Given the description of an element on the screen output the (x, y) to click on. 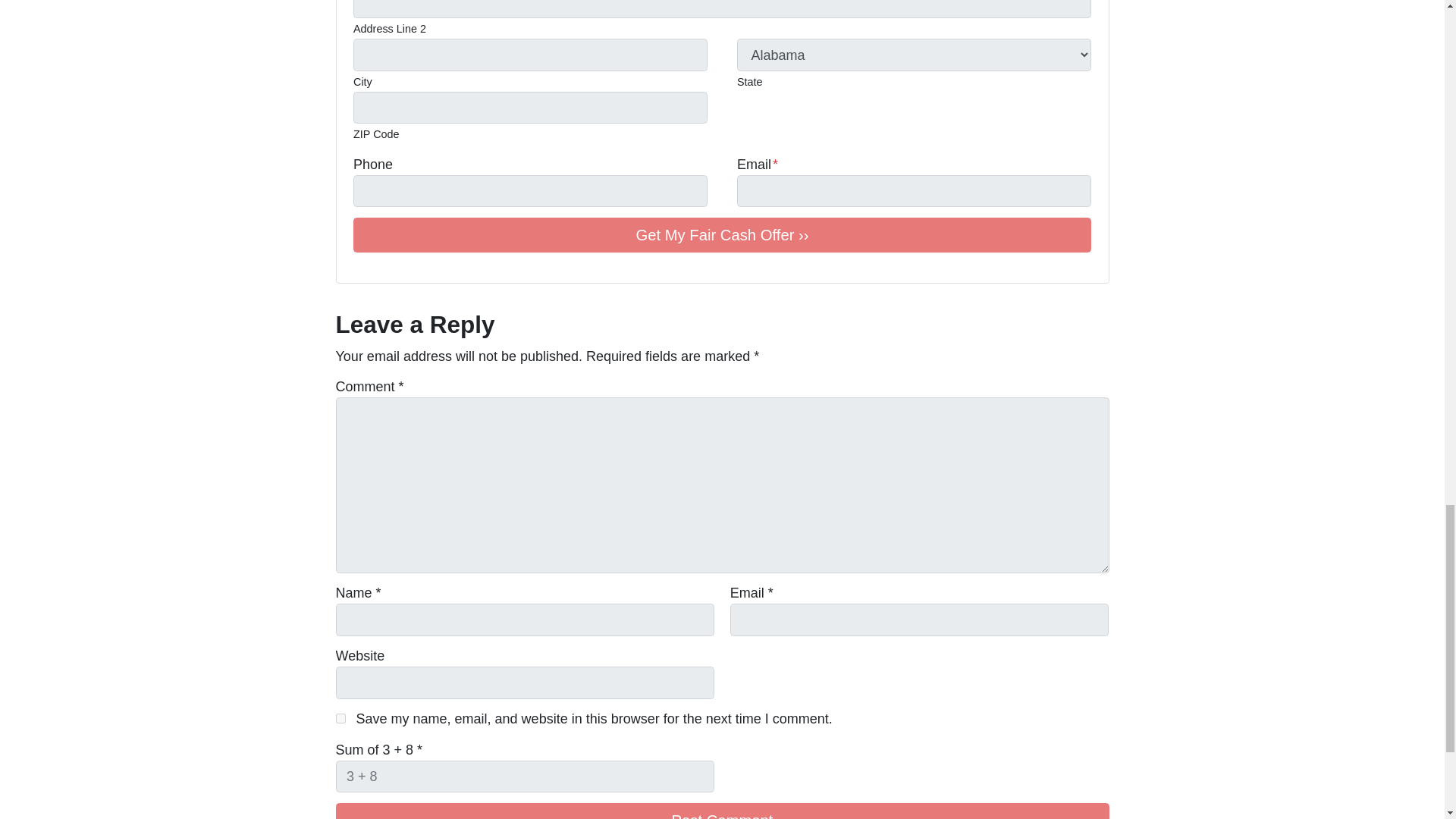
Post Comment (721, 811)
yes (339, 718)
Post Comment (721, 811)
